Given the description of an element on the screen output the (x, y) to click on. 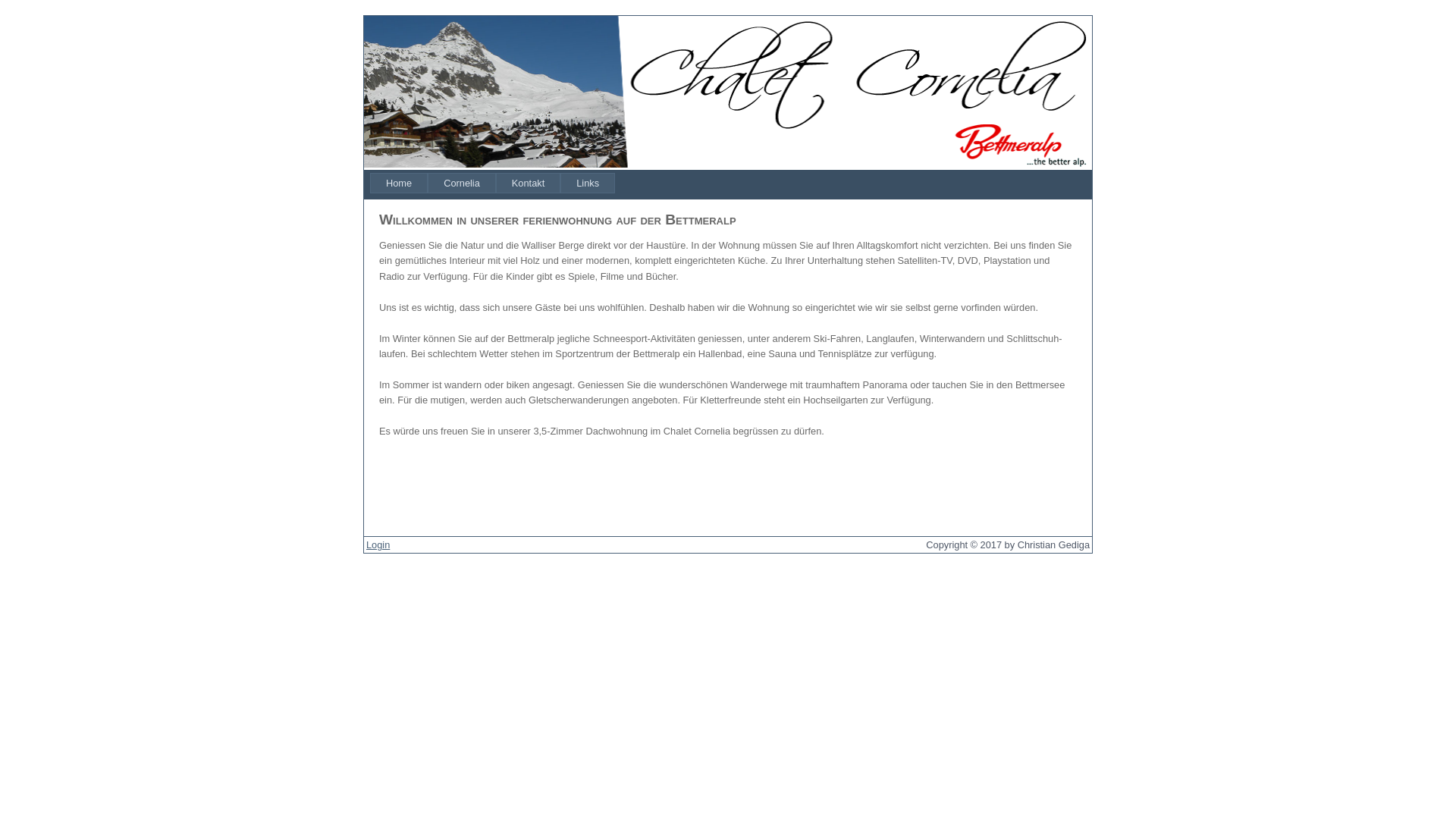
Links Element type: text (587, 182)
Home Element type: text (398, 182)
Login Element type: text (377, 544)
Kontakt Element type: text (527, 182)
Cornelia Element type: text (461, 182)
